Given the description of an element on the screen output the (x, y) to click on. 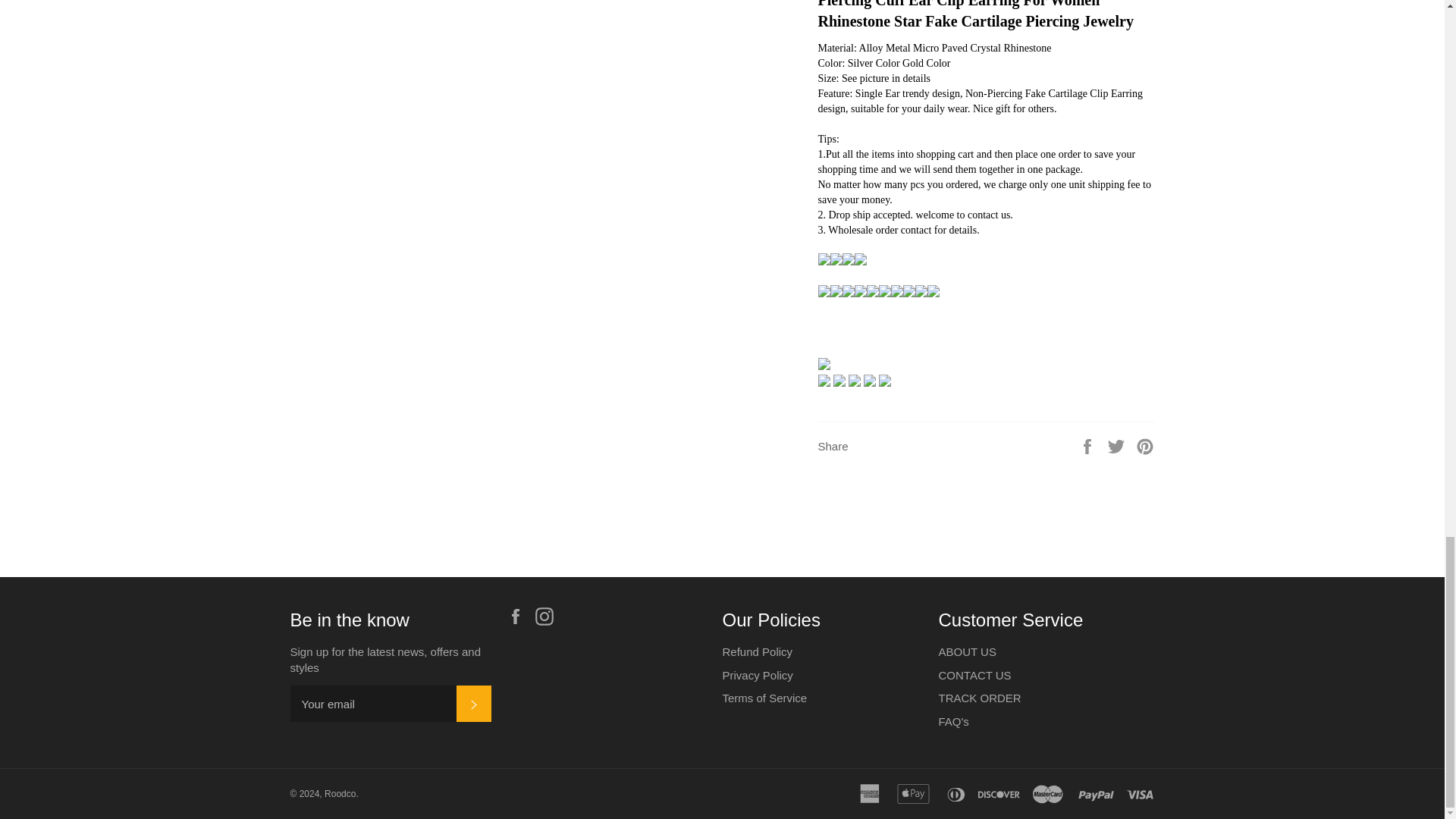
Roodco on Facebook (519, 616)
Share on Facebook (1088, 445)
Tweet on Twitter (1117, 445)
Roodco on Instagram (547, 616)
Pin on Pinterest (1144, 445)
